Given the description of an element on the screen output the (x, y) to click on. 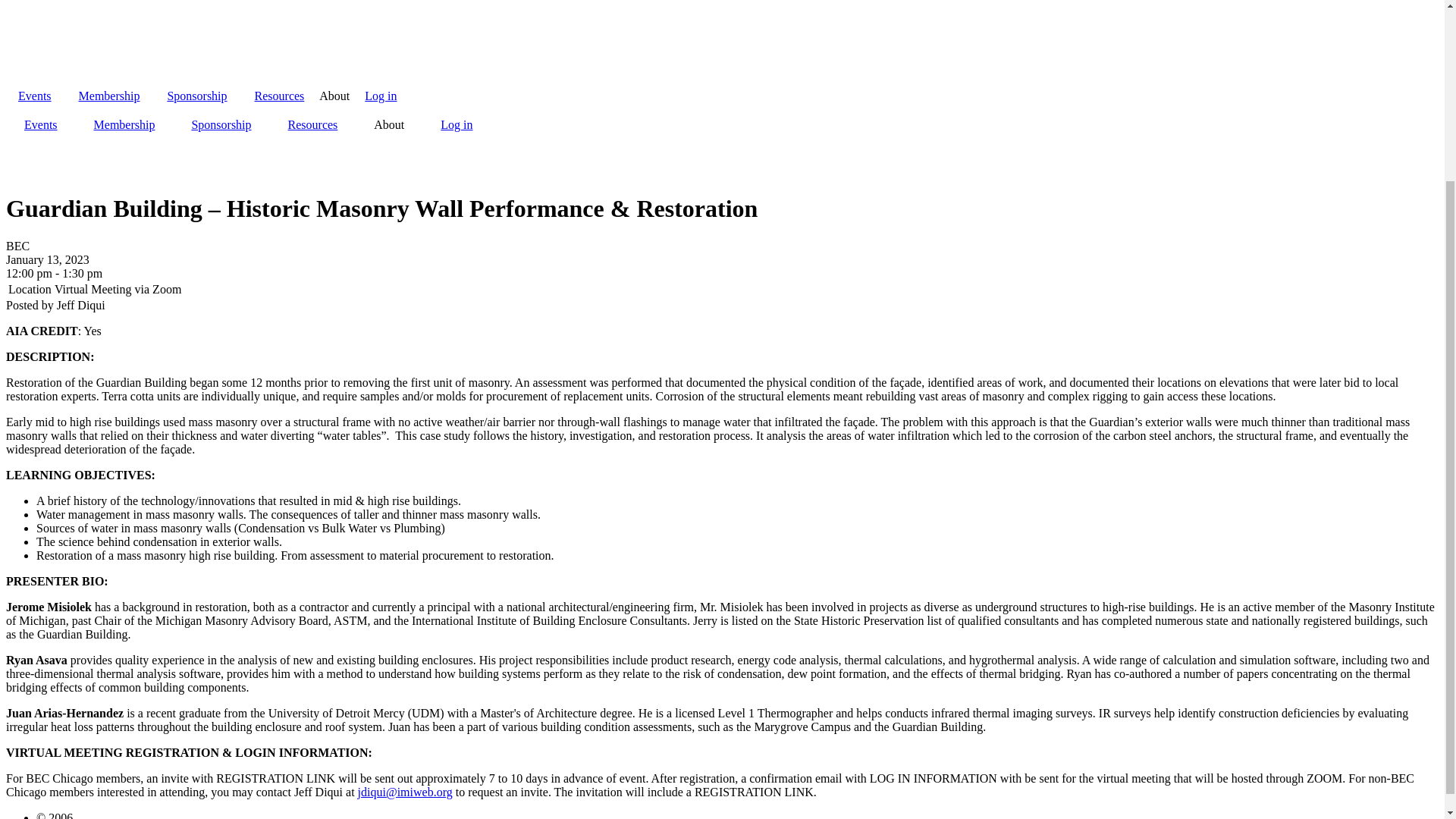
Sponsorship (221, 125)
Events (34, 96)
Sponsorship (196, 96)
Log in (456, 125)
Membership (109, 96)
Membership (124, 125)
Resources (280, 96)
Events (40, 125)
Log in (380, 96)
Resources (312, 125)
